Given the description of an element on the screen output the (x, y) to click on. 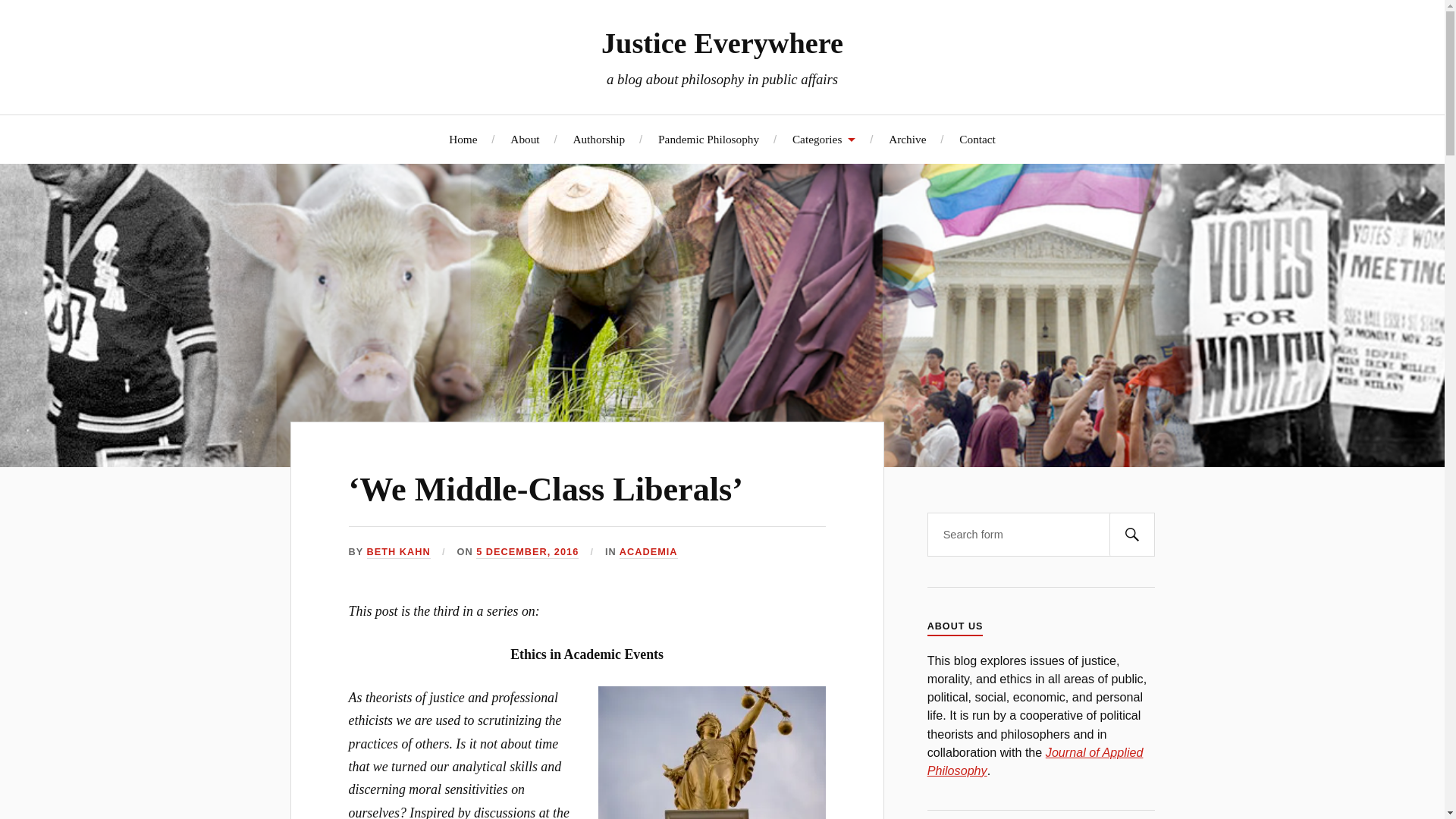
Categories (824, 138)
Posts by Beth Kahn (398, 552)
Justice Everywhere (722, 42)
Pandemic Philosophy (708, 138)
Authorship (598, 138)
